Given the description of an element on the screen output the (x, y) to click on. 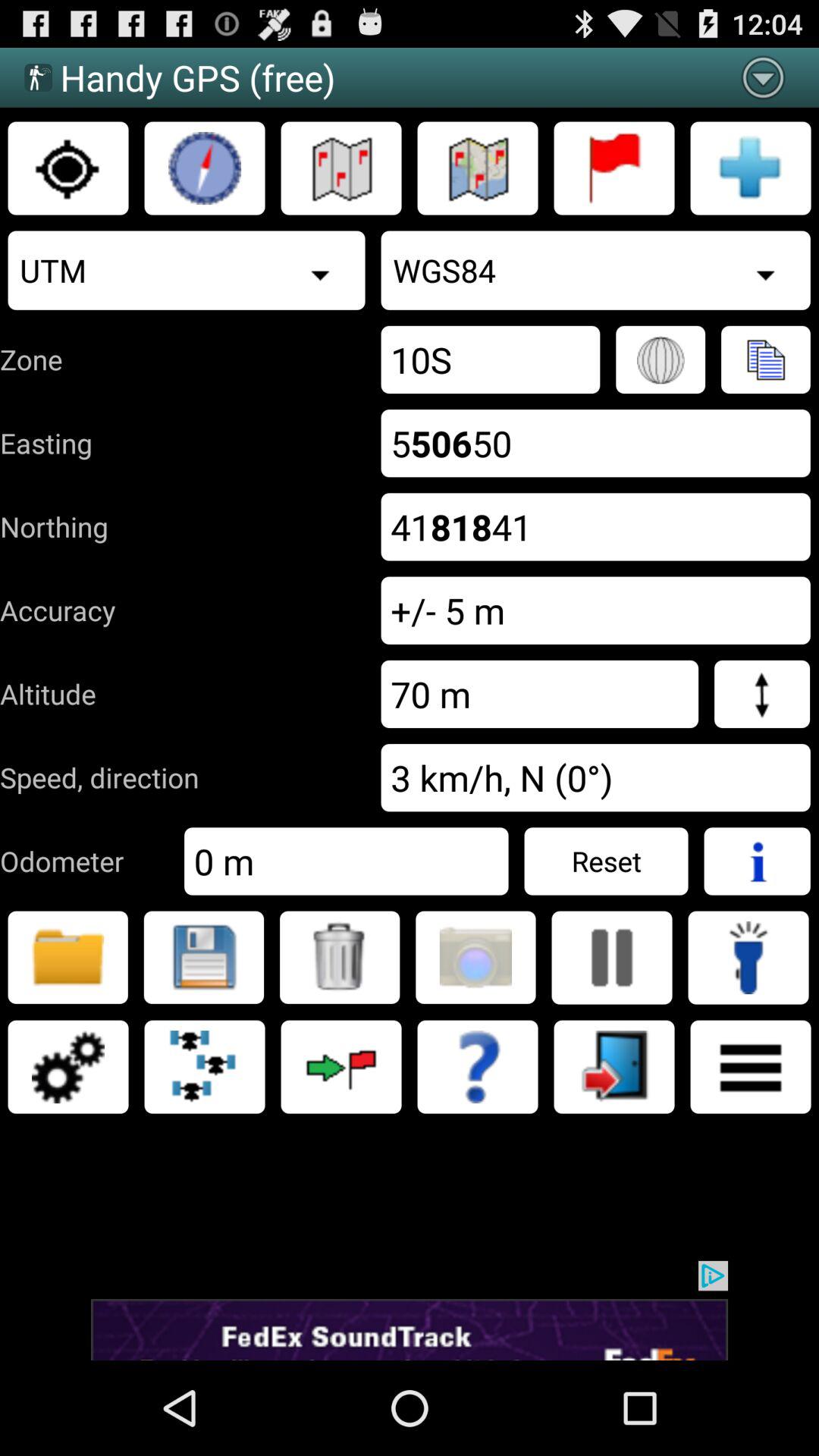
map button (477, 167)
